Given the description of an element on the screen output the (x, y) to click on. 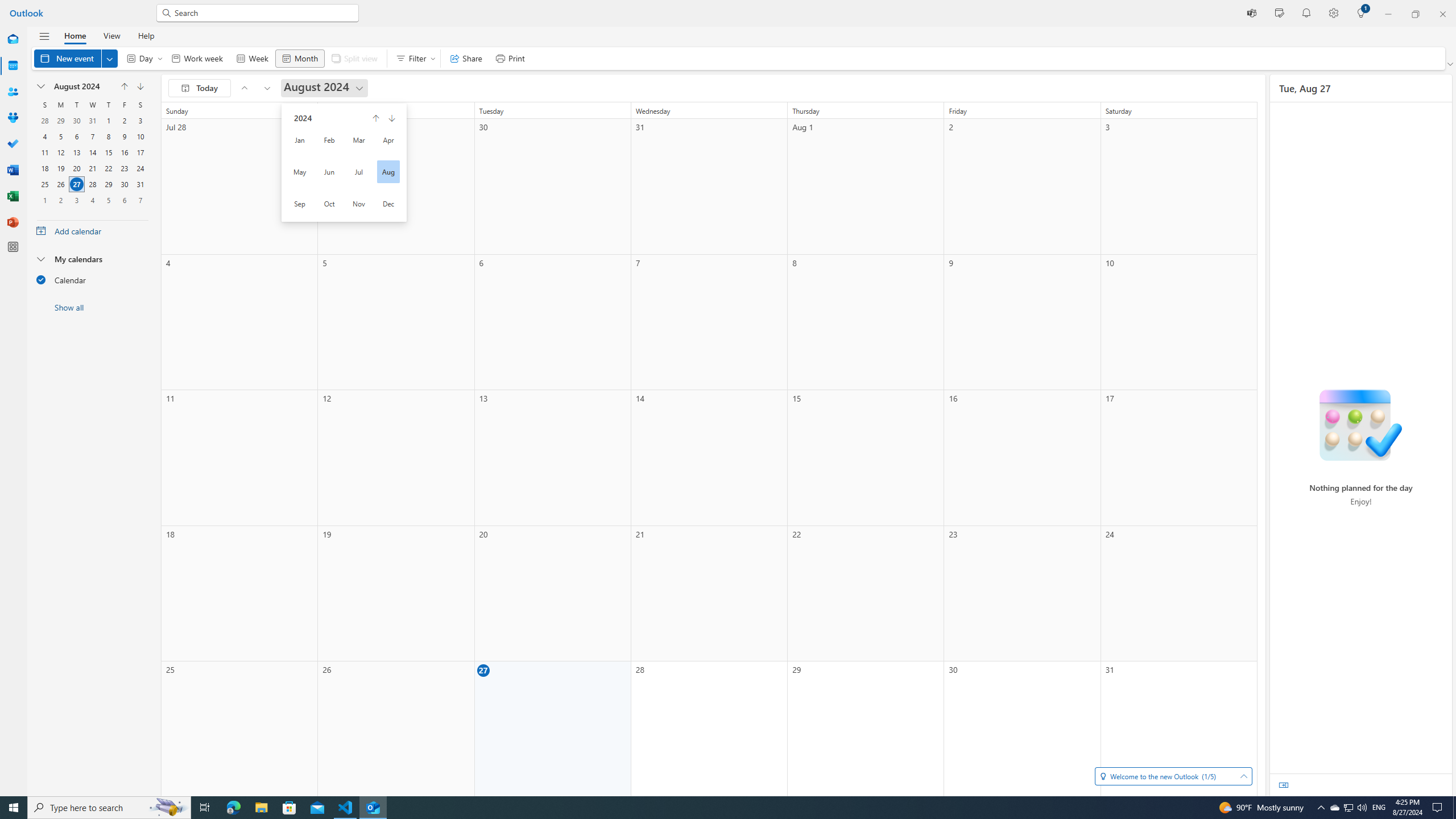
5, August, 2024 (59, 136)
Toggle agenda pane (1283, 785)
6, September, 2024 (124, 200)
Search (262, 12)
6, September, 2024 (124, 200)
Show all (92, 306)
Saturday (140, 104)
14, August, 2024 (92, 152)
9, August, 2024 (124, 136)
30, July, 2024 (76, 120)
4, September, 2024 (92, 200)
Month (299, 58)
13, August, 2024 (75, 151)
3, August, 2024 (140, 120)
